Given the description of an element on the screen output the (x, y) to click on. 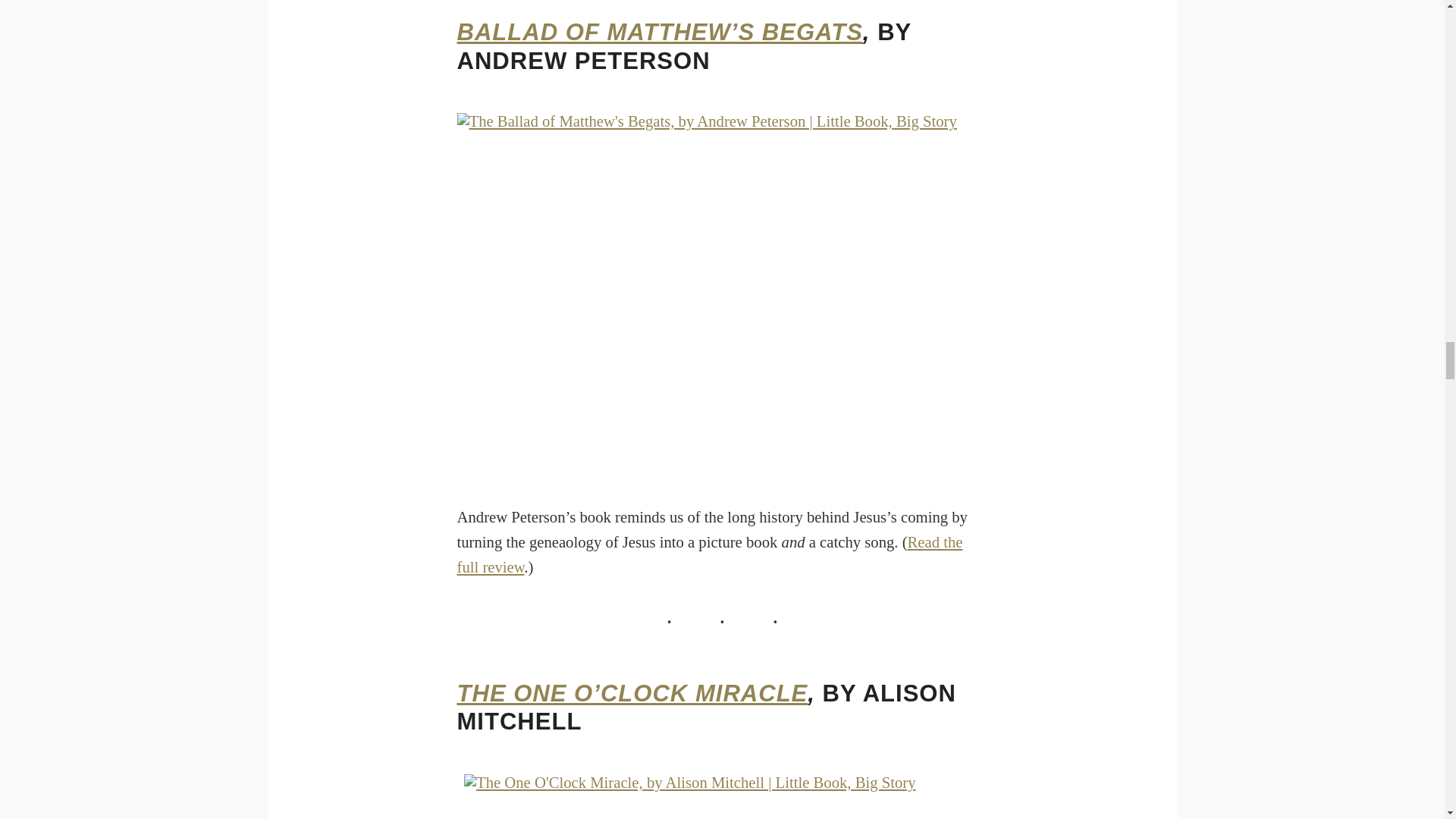
Read the full review (709, 554)
